Given the description of an element on the screen output the (x, y) to click on. 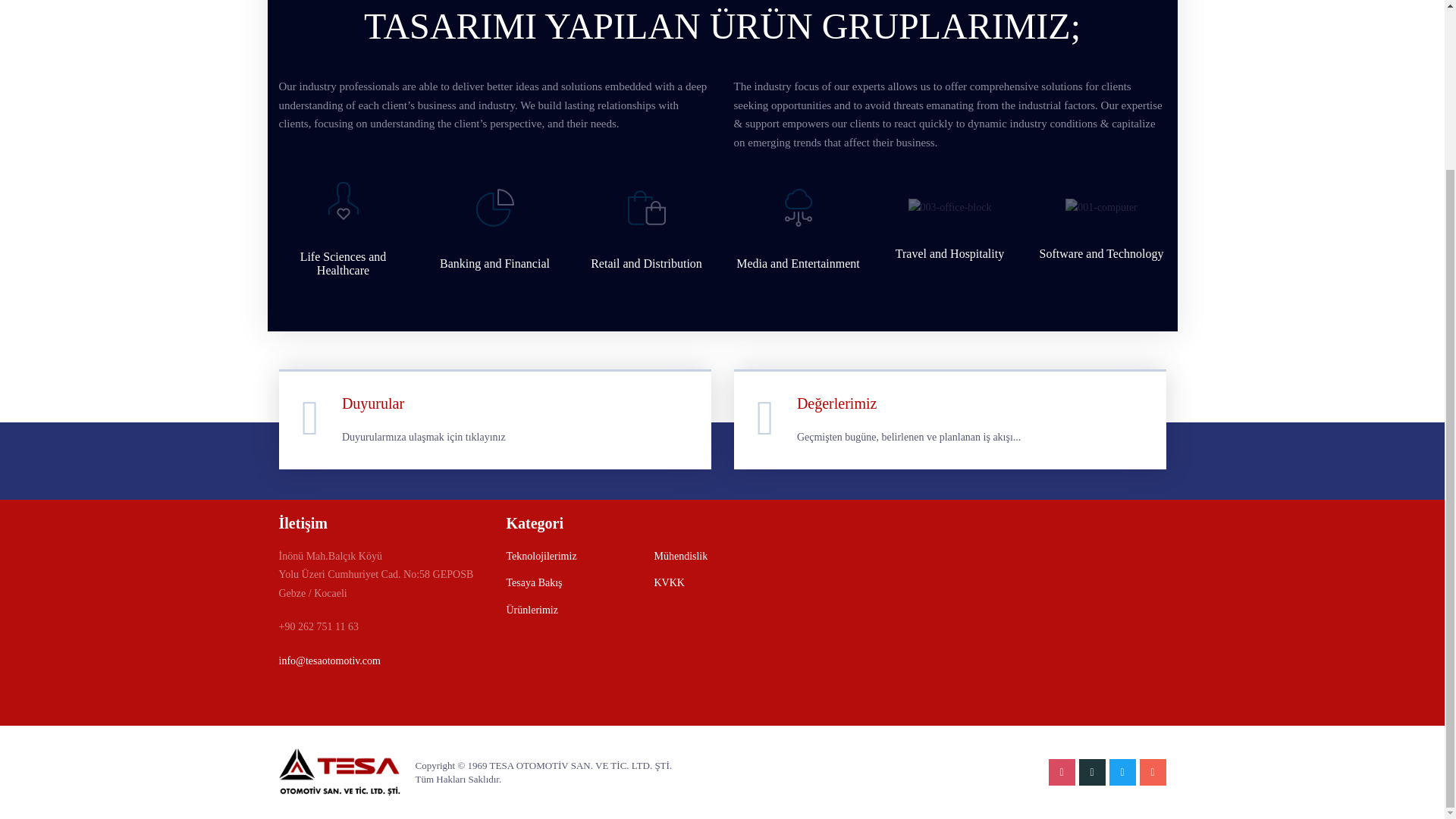
Retail and Distribution (646, 263)
Travel and Hospitality (949, 253)
Software and Technology (1101, 253)
Life Sciences and Healthcare (343, 263)
Duyurular (373, 402)
Media and Entertainment (798, 263)
Banking and Financial (494, 263)
Teknolojilerimiz (541, 556)
KVKK (668, 582)
